Given the description of an element on the screen output the (x, y) to click on. 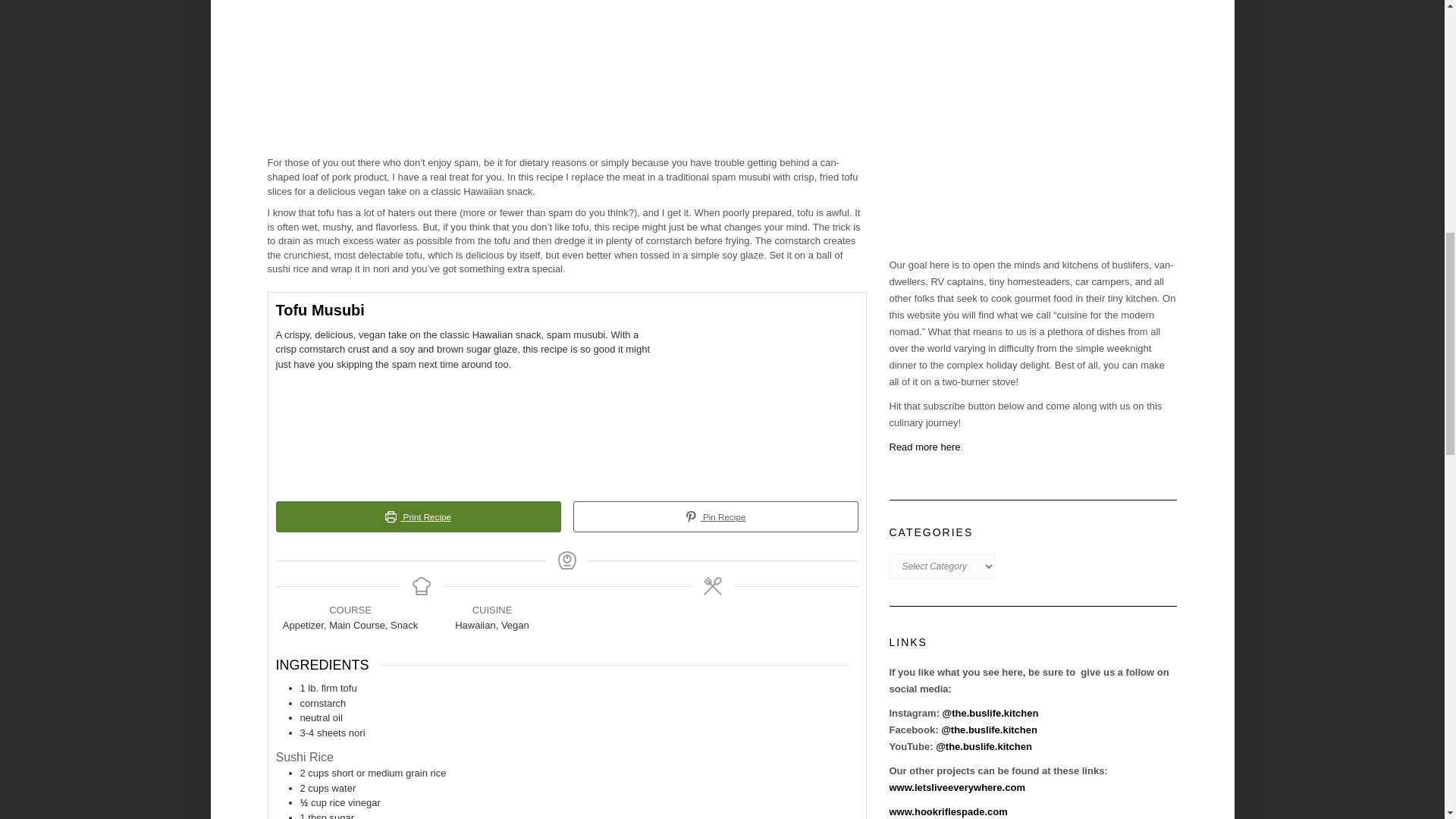
Print Recipe (418, 517)
Pin Recipe (716, 517)
www.letsliveeverywhere.com (956, 787)
Read more here (923, 446)
www.hookriflespade.com (947, 811)
